Given the description of an element on the screen output the (x, y) to click on. 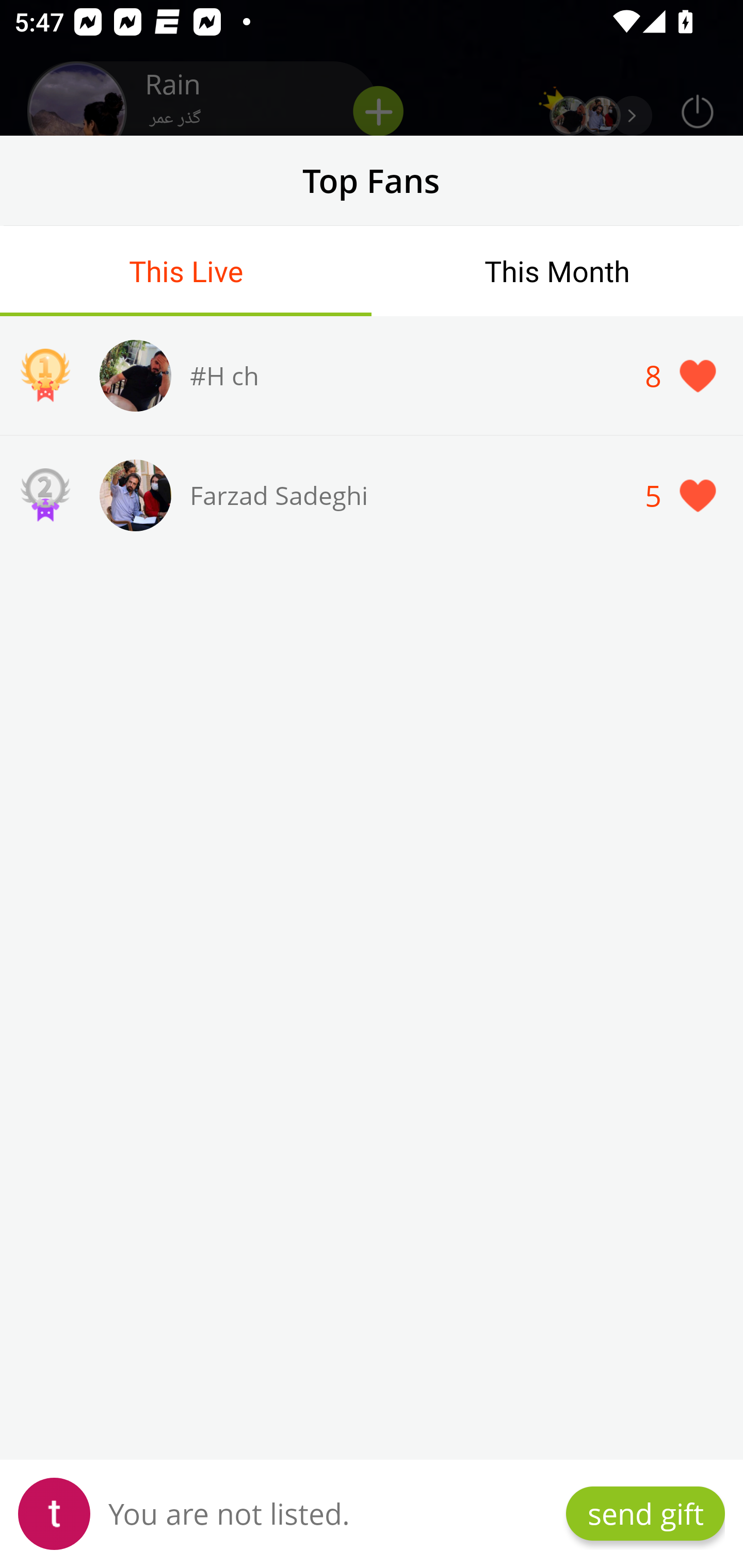
This Month (557, 270)
send gift (645, 1513)
